Given the description of an element on the screen output the (x, y) to click on. 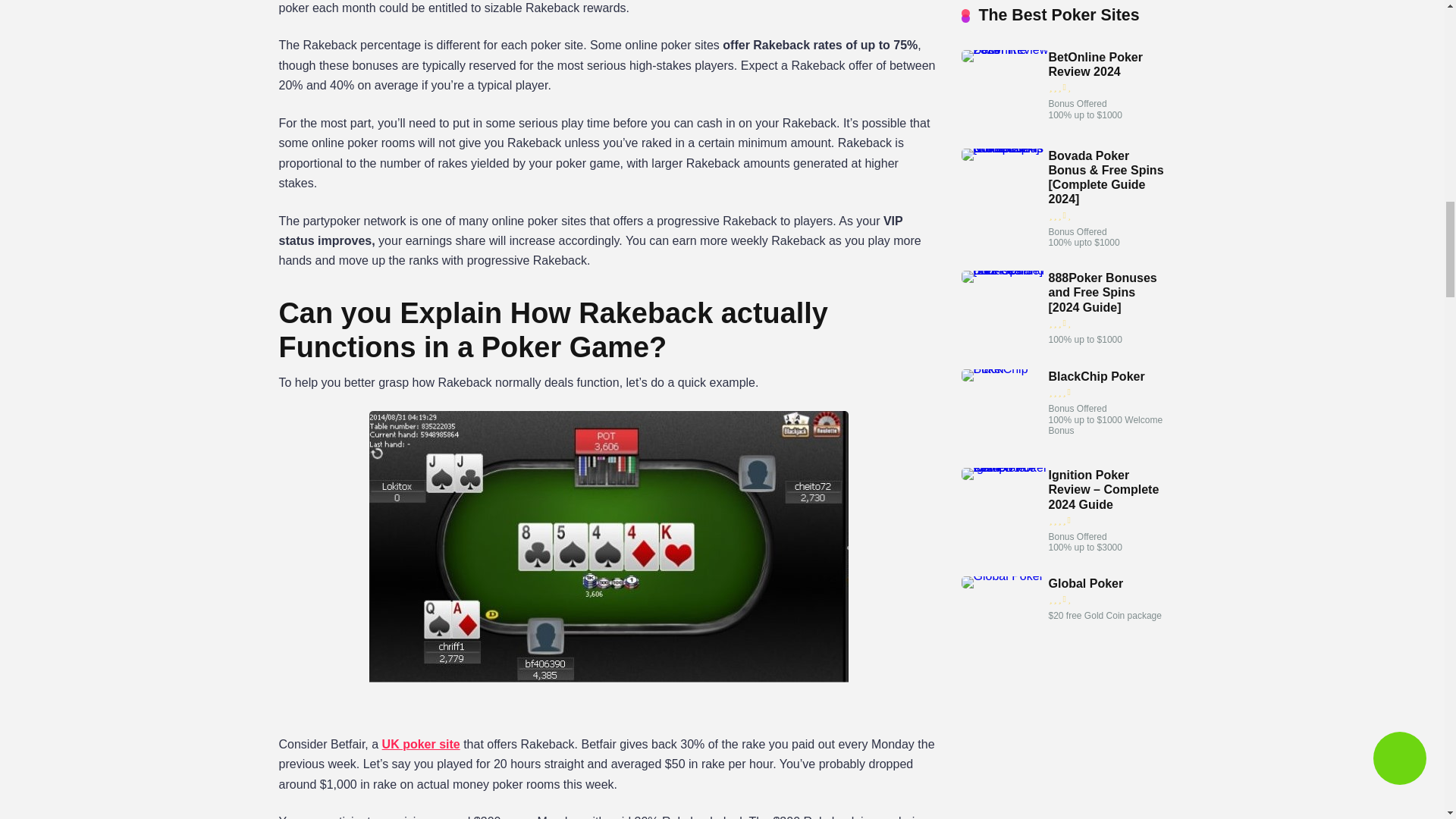
UK poker site (420, 744)
